Given the description of an element on the screen output the (x, y) to click on. 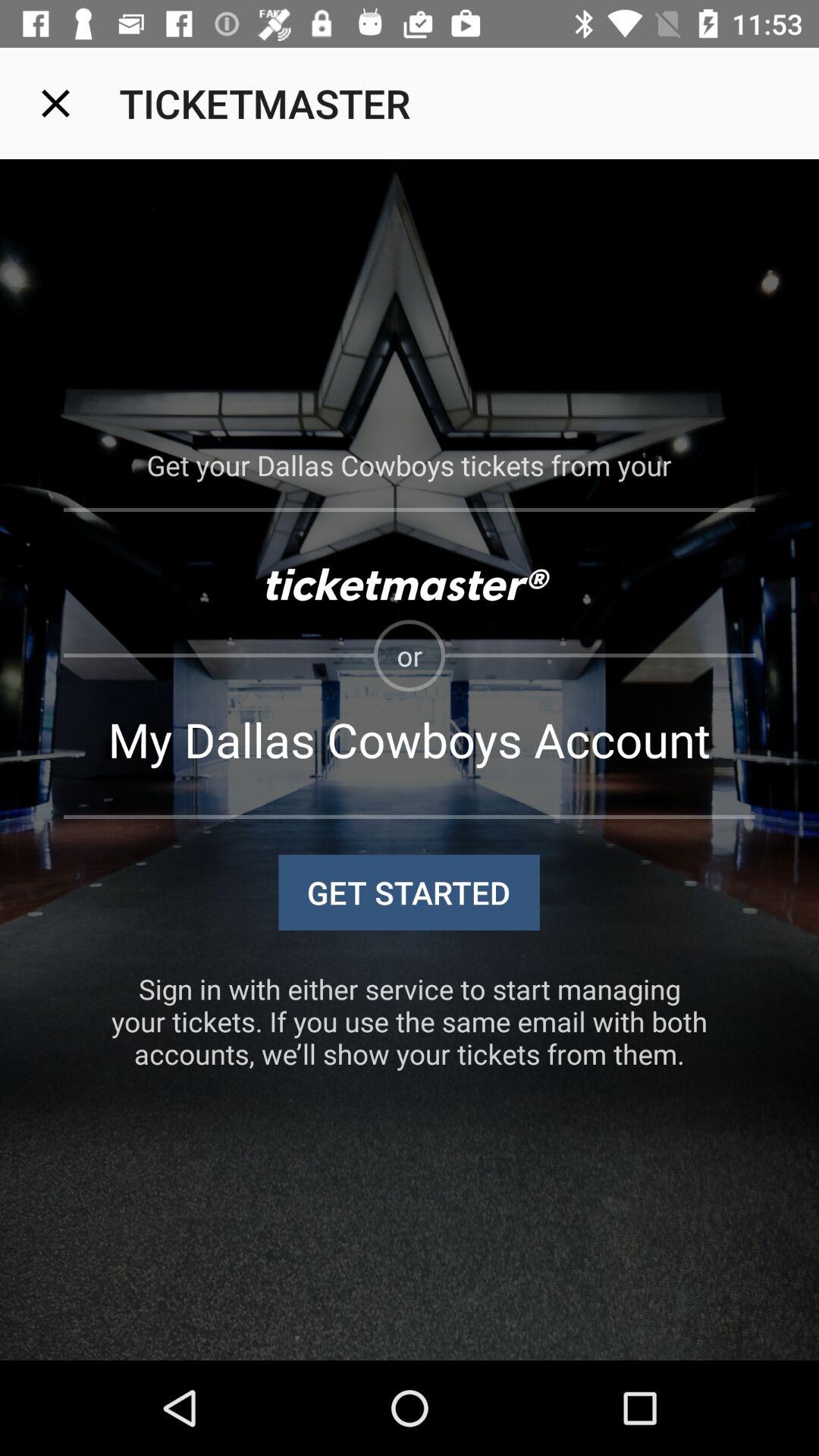
closes window (55, 103)
